Given the description of an element on the screen output the (x, y) to click on. 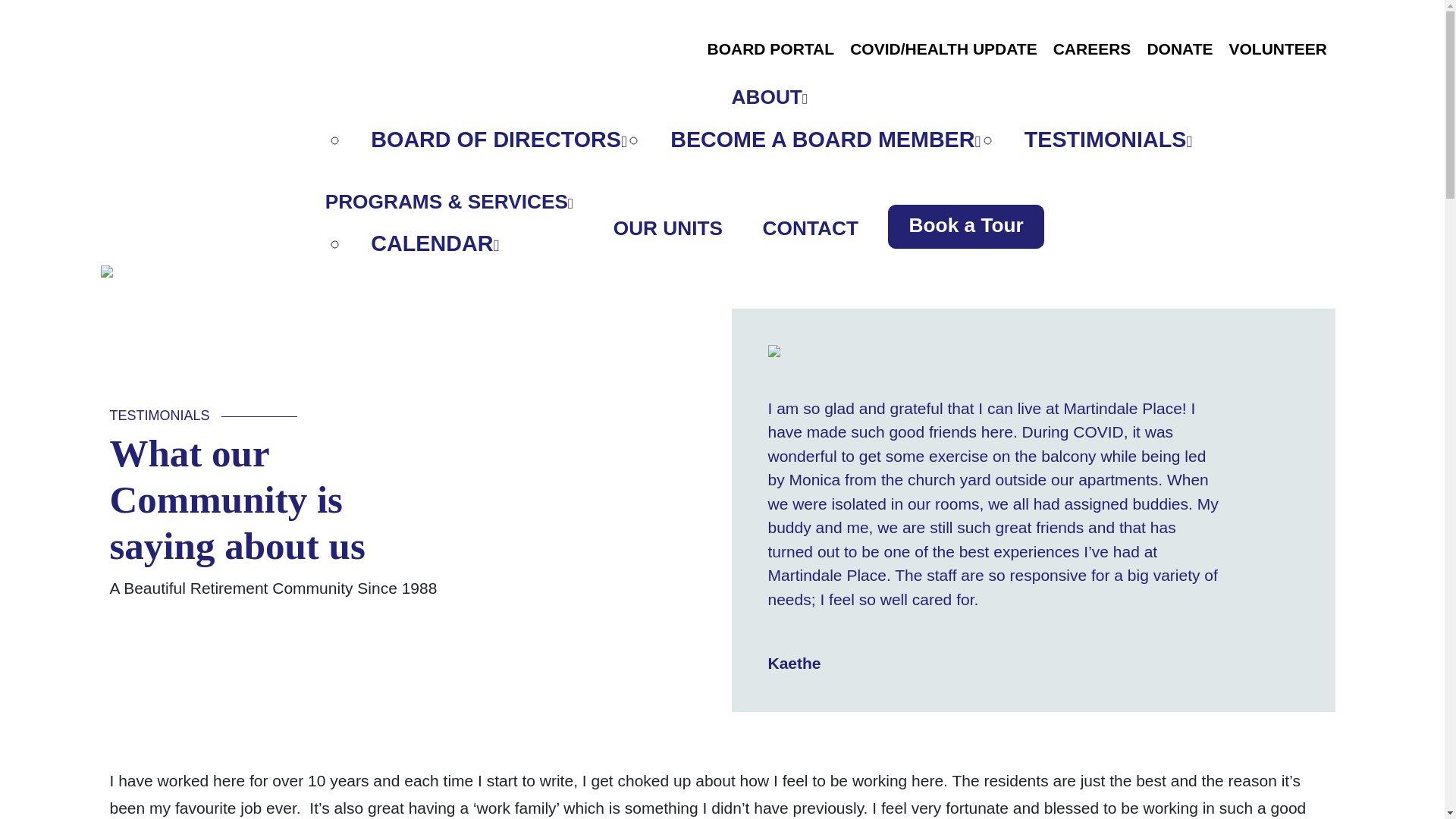
Book a Tour (965, 224)
BOARD OF DIRECTORS (498, 139)
CAREERS (1091, 48)
CALENDAR (435, 242)
CONTACT (810, 228)
DONATE (1179, 48)
BECOME A BOARD MEMBER (824, 139)
TESTIMONIALS (1108, 139)
OUR UNITS (667, 228)
ABOUT (770, 96)
